Given the description of an element on the screen output the (x, y) to click on. 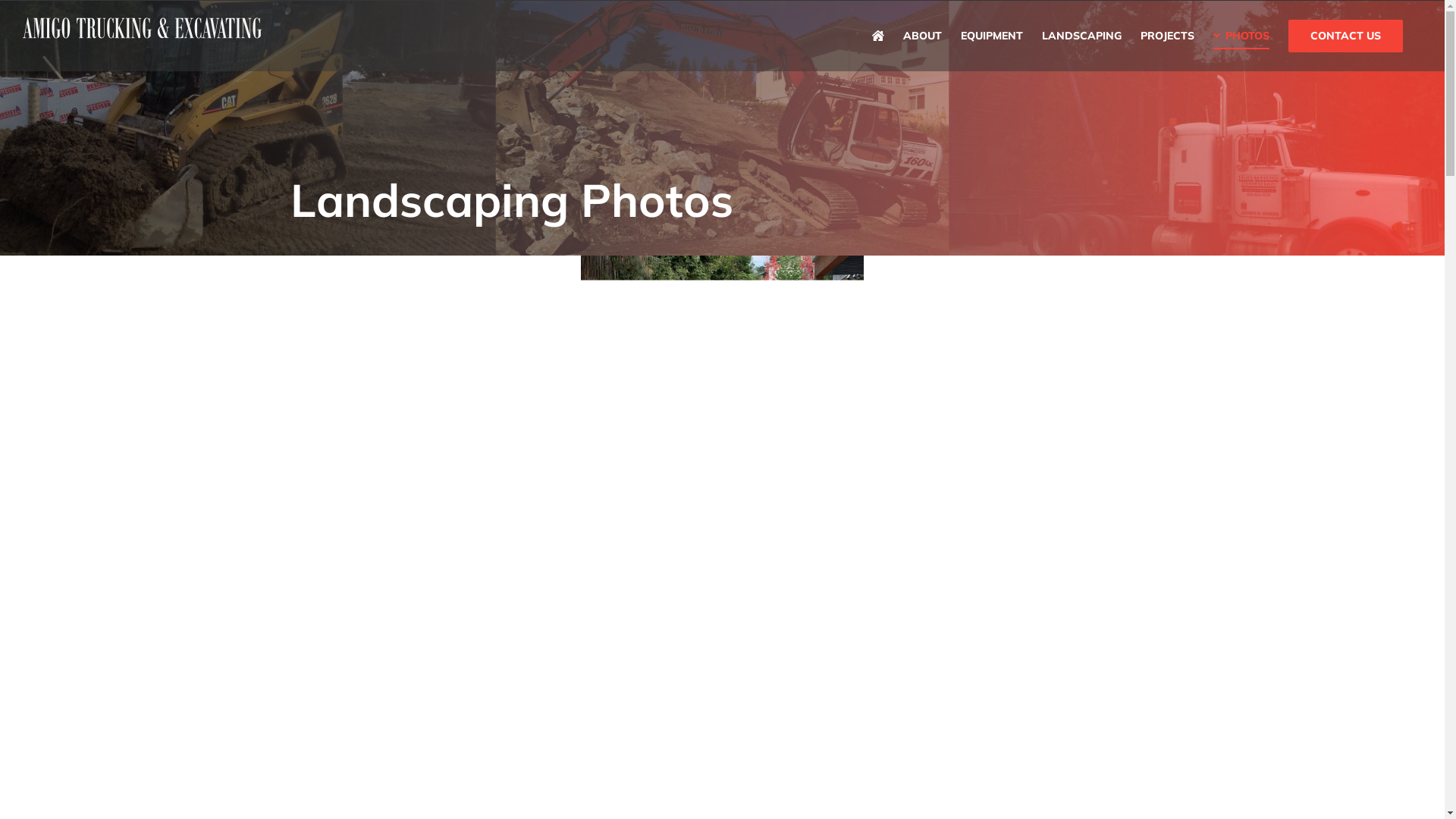
IMG_1364 Element type: hover (1011, 606)
Landscaping Element type: hover (1011, 369)
PROJECTS Element type: text (1167, 35)
Landscaping Element type: hover (430, 606)
PHOTOS Element type: text (1241, 35)
CONTACT US Element type: text (1345, 35)
Landscaping Element type: hover (721, 369)
LANDSCAPING Element type: text (1081, 35)
split rail fencing Element type: hover (721, 606)
Landscaping Element type: hover (430, 369)
EQUIPMENT Element type: text (991, 35)
ABOUT Element type: text (922, 35)
